Given the description of an element on the screen output the (x, y) to click on. 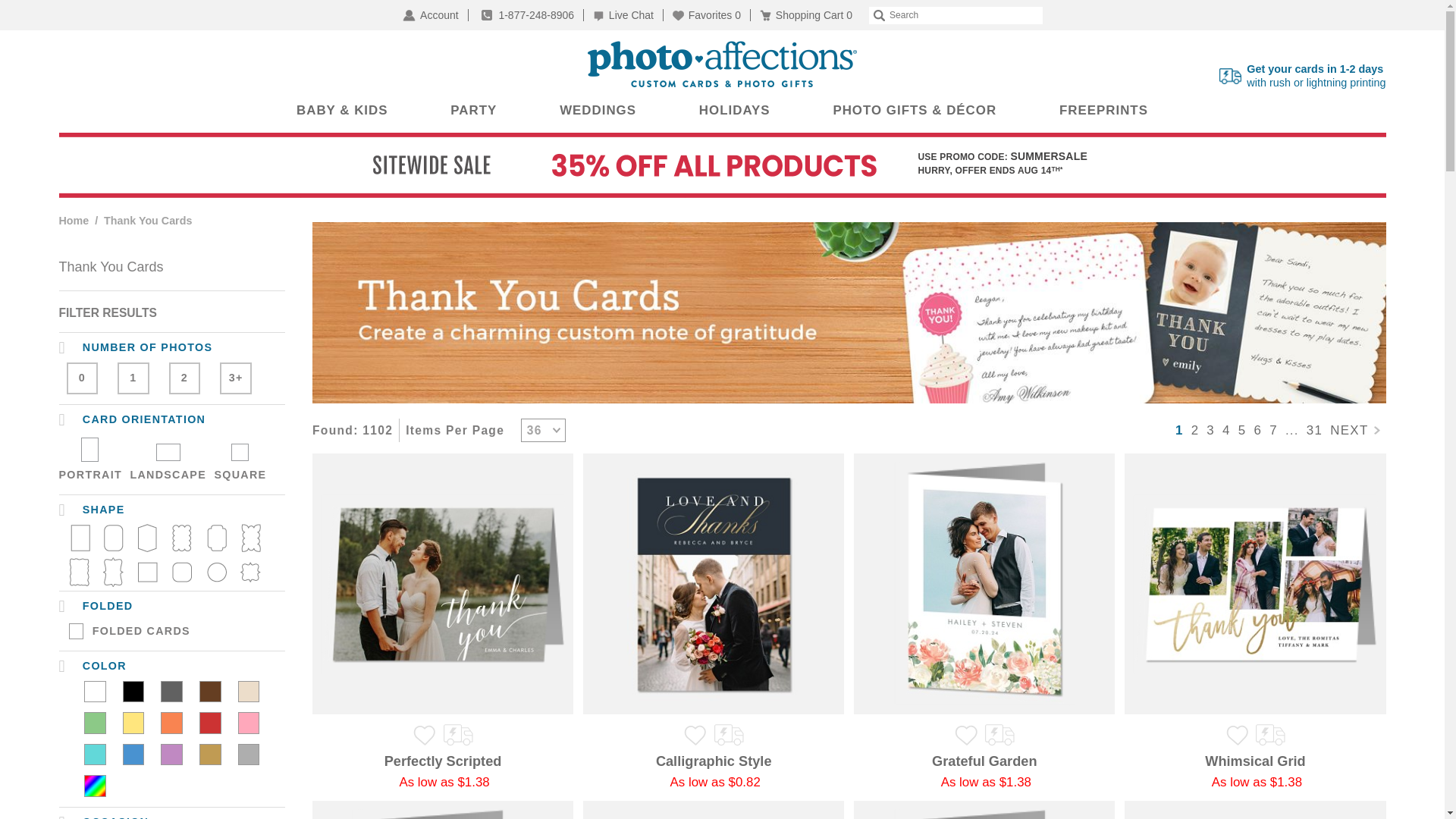
PARTY (472, 110)
White (95, 691)
Gray (1303, 76)
1-877-248-8906 (171, 691)
Brown (528, 15)
Contact (210, 691)
Photo Affections (528, 15)
